Given the description of an element on the screen output the (x, y) to click on. 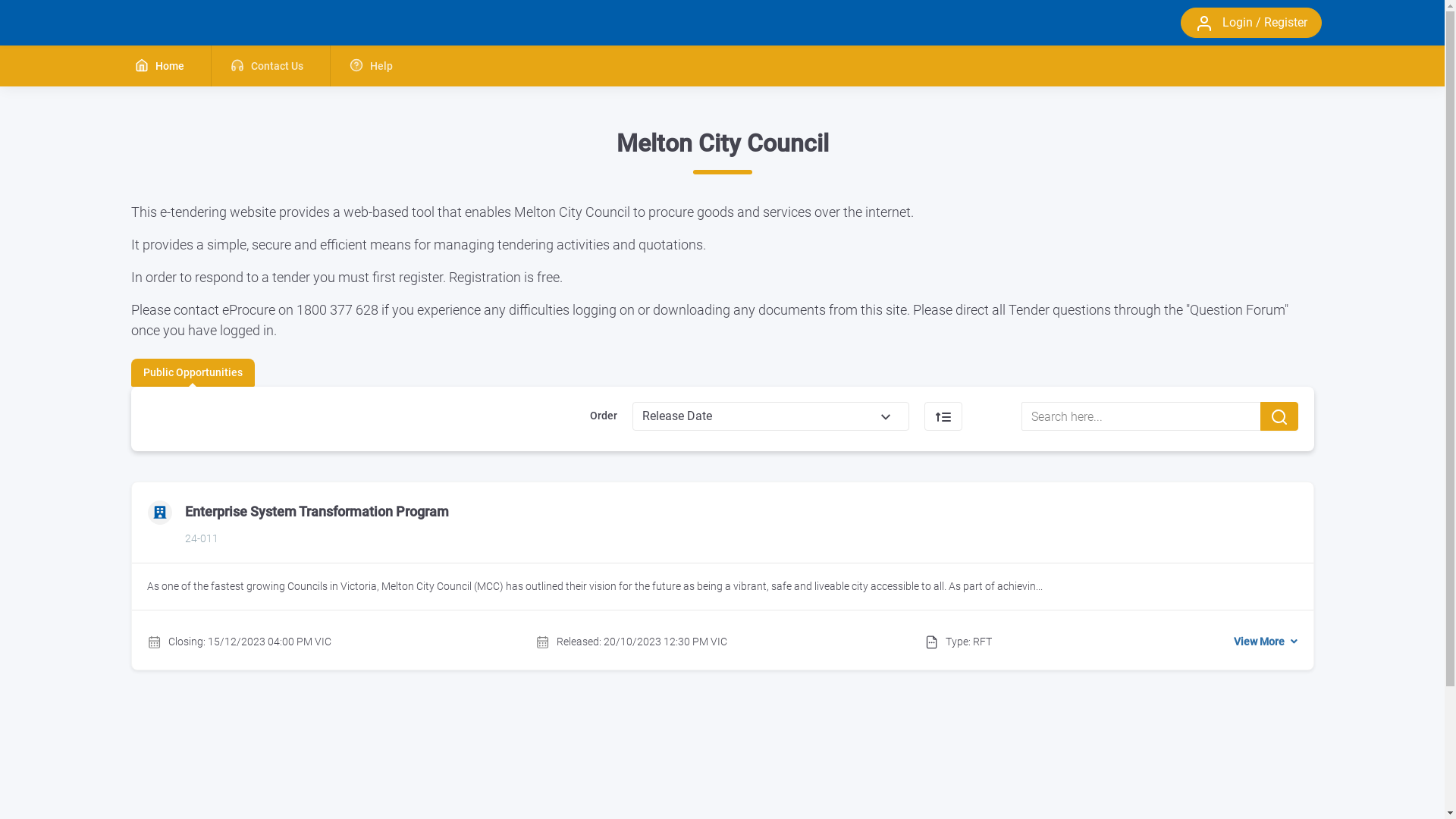
Home Element type: text (162, 65)
View More Element type: text (1265, 641)
Release Date Element type: text (770, 415)
Enterprise System Transformation Program Element type: text (316, 511)
Help Element type: text (374, 65)
Contact Us Element type: text (269, 65)
Login / Register Element type: text (1250, 22)
Public Opportunities Element type: text (192, 372)
